Given the description of an element on the screen output the (x, y) to click on. 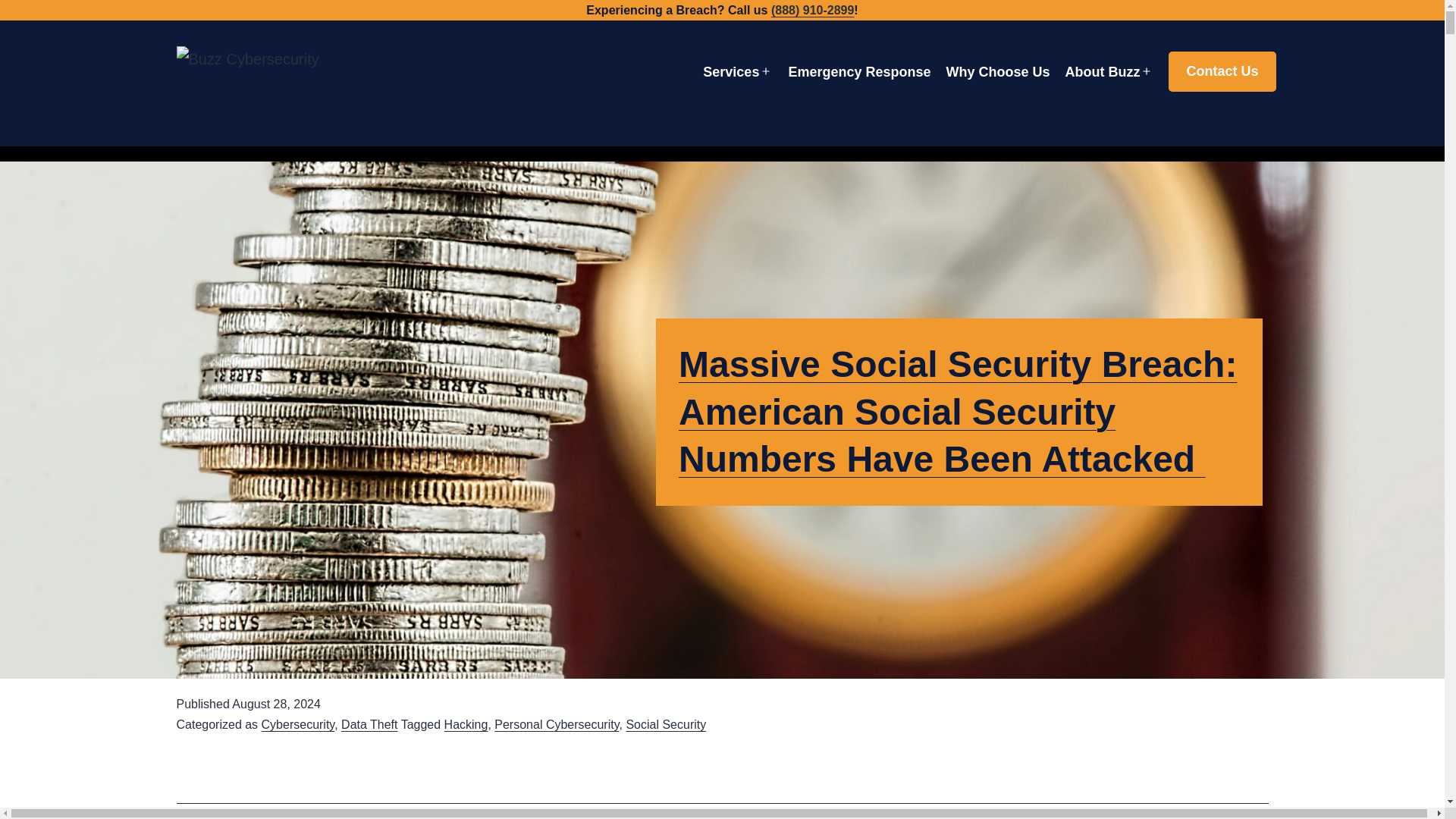
Services (730, 72)
Cybersecurity (298, 724)
Personal Cybersecurity (556, 724)
Hacking (465, 724)
Social Security (666, 724)
Why Choose Us (996, 72)
Contact Us (1221, 71)
About Buzz (1102, 72)
Emergency Response (858, 72)
